Given the description of an element on the screen output the (x, y) to click on. 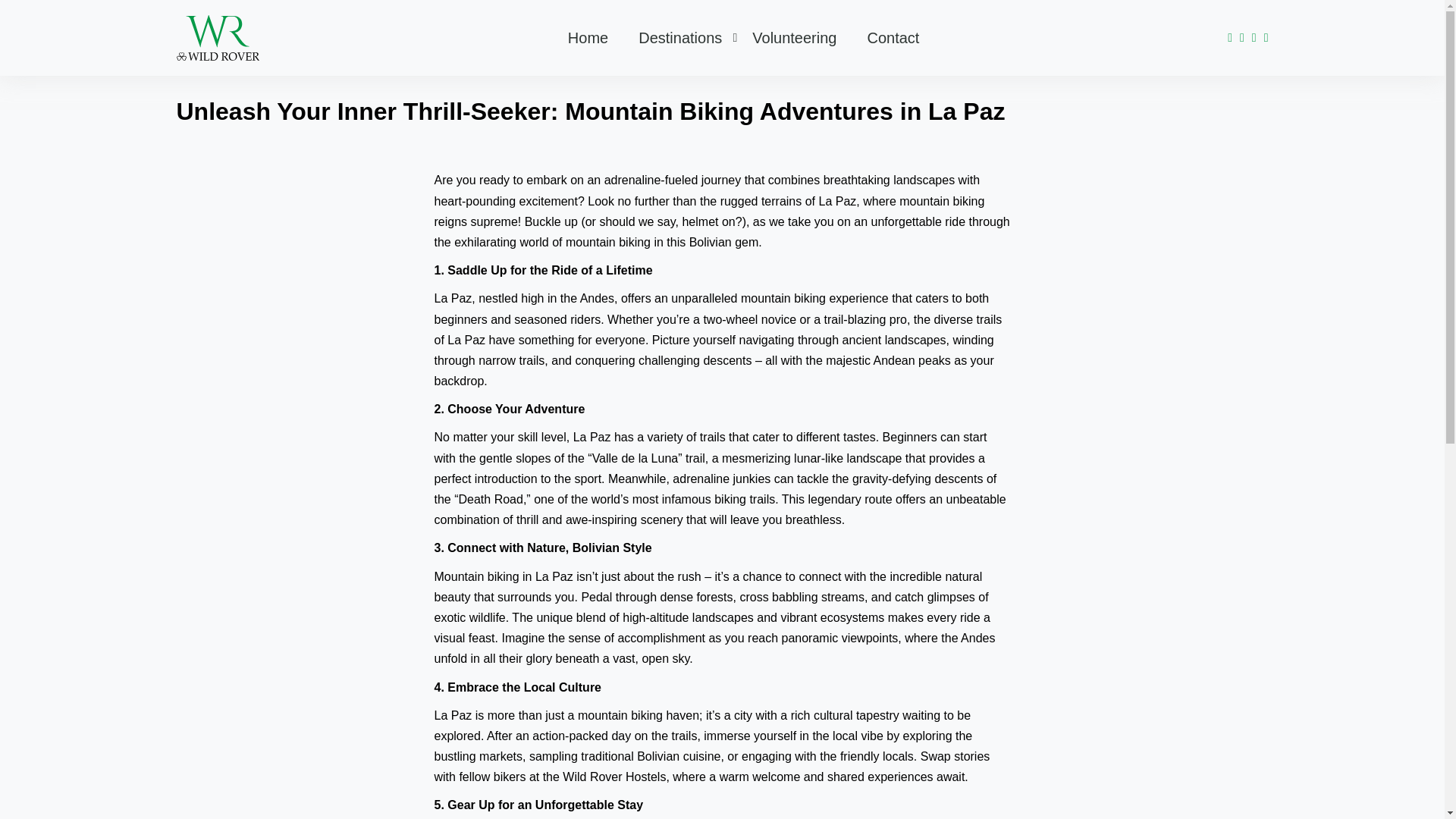
Destinations (679, 37)
Home (588, 37)
Contact (892, 37)
Volunteering (793, 37)
